Given the description of an element on the screen output the (x, y) to click on. 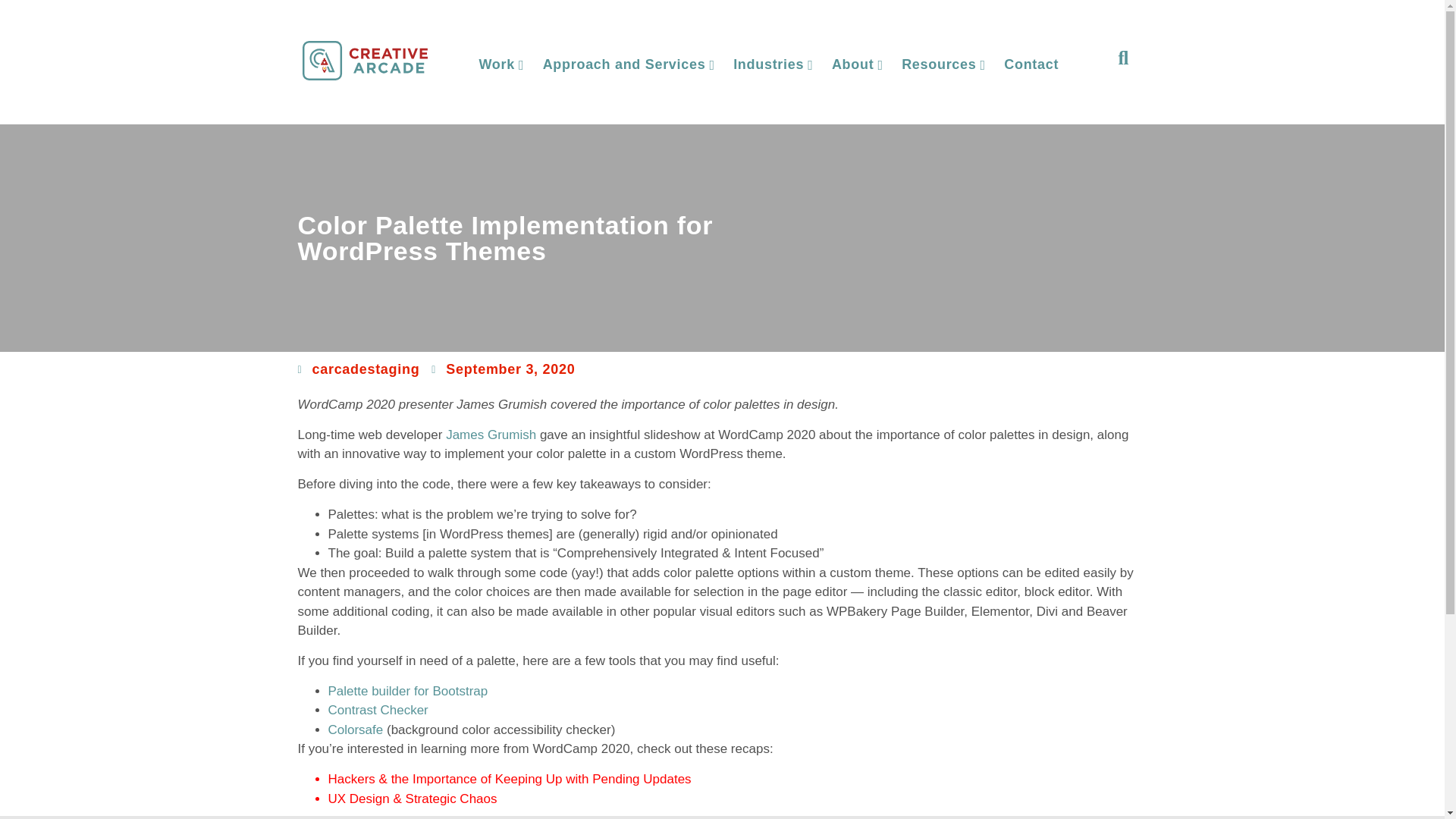
Work (500, 63)
About (857, 63)
Resources (944, 63)
Industries (772, 63)
Contact (1031, 63)
Approach and Services (628, 63)
